Given the description of an element on the screen output the (x, y) to click on. 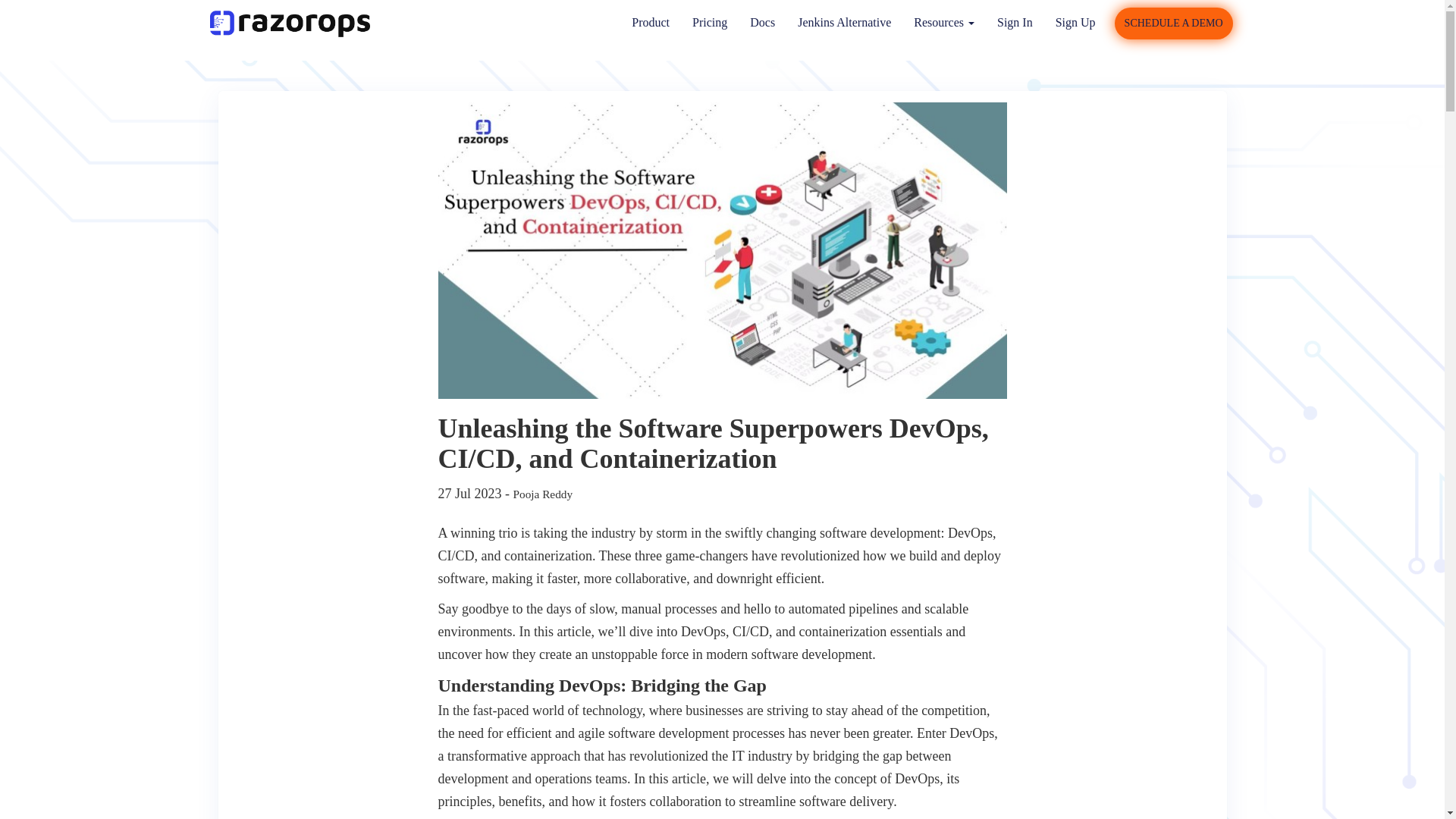
Resources (943, 24)
Docs (762, 24)
Product (650, 24)
Pricing (709, 24)
SCHEDULE A DEMO (1174, 23)
Sign In (1014, 24)
Jenkins Alternative (844, 24)
Sign Up (1074, 24)
